Given the description of an element on the screen output the (x, y) to click on. 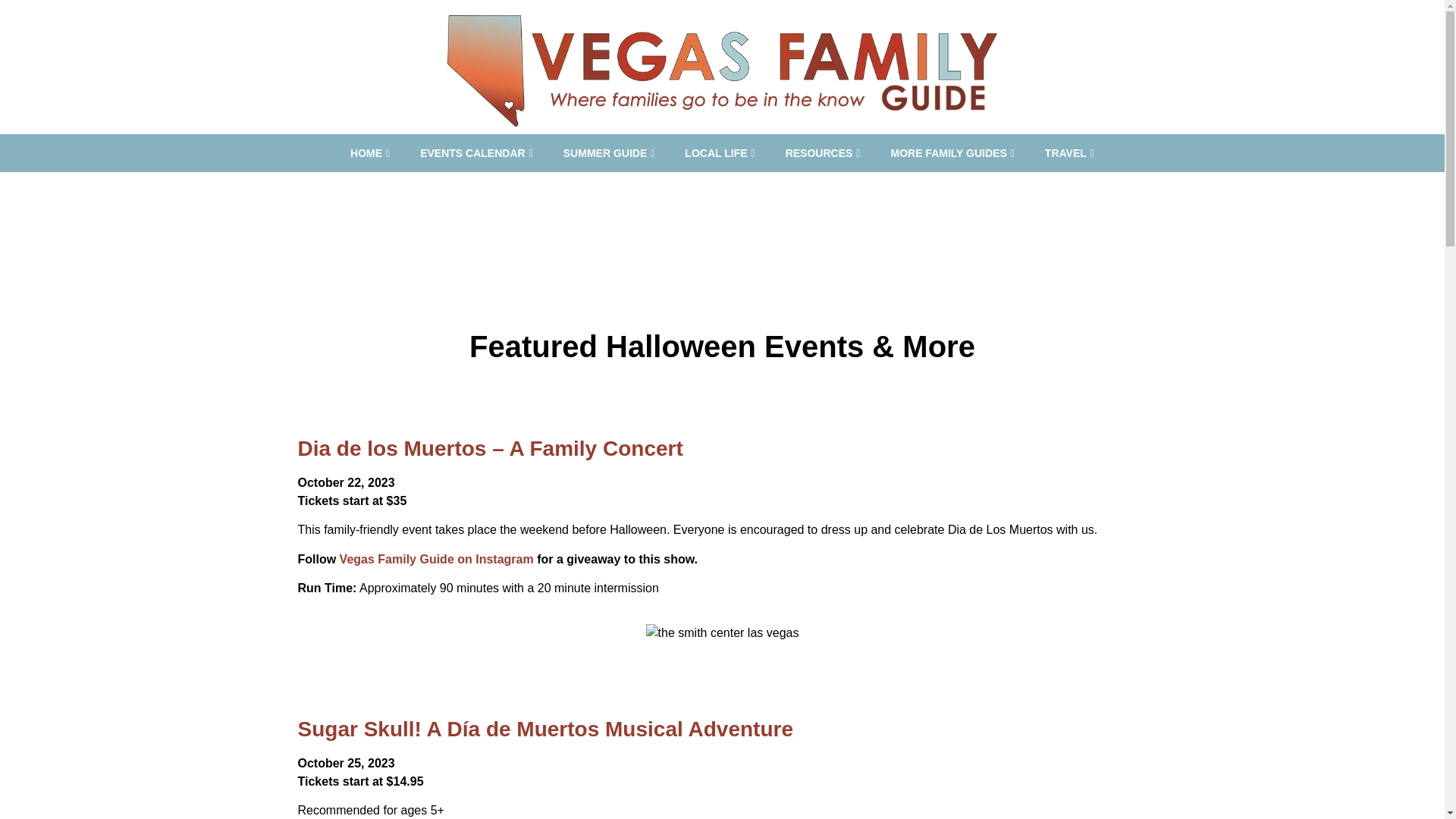
EVENTS CALENDAR (476, 152)
HOME (369, 152)
SUMMER GUIDE (608, 152)
LOCAL LIFE (719, 152)
